Given the description of an element on the screen output the (x, y) to click on. 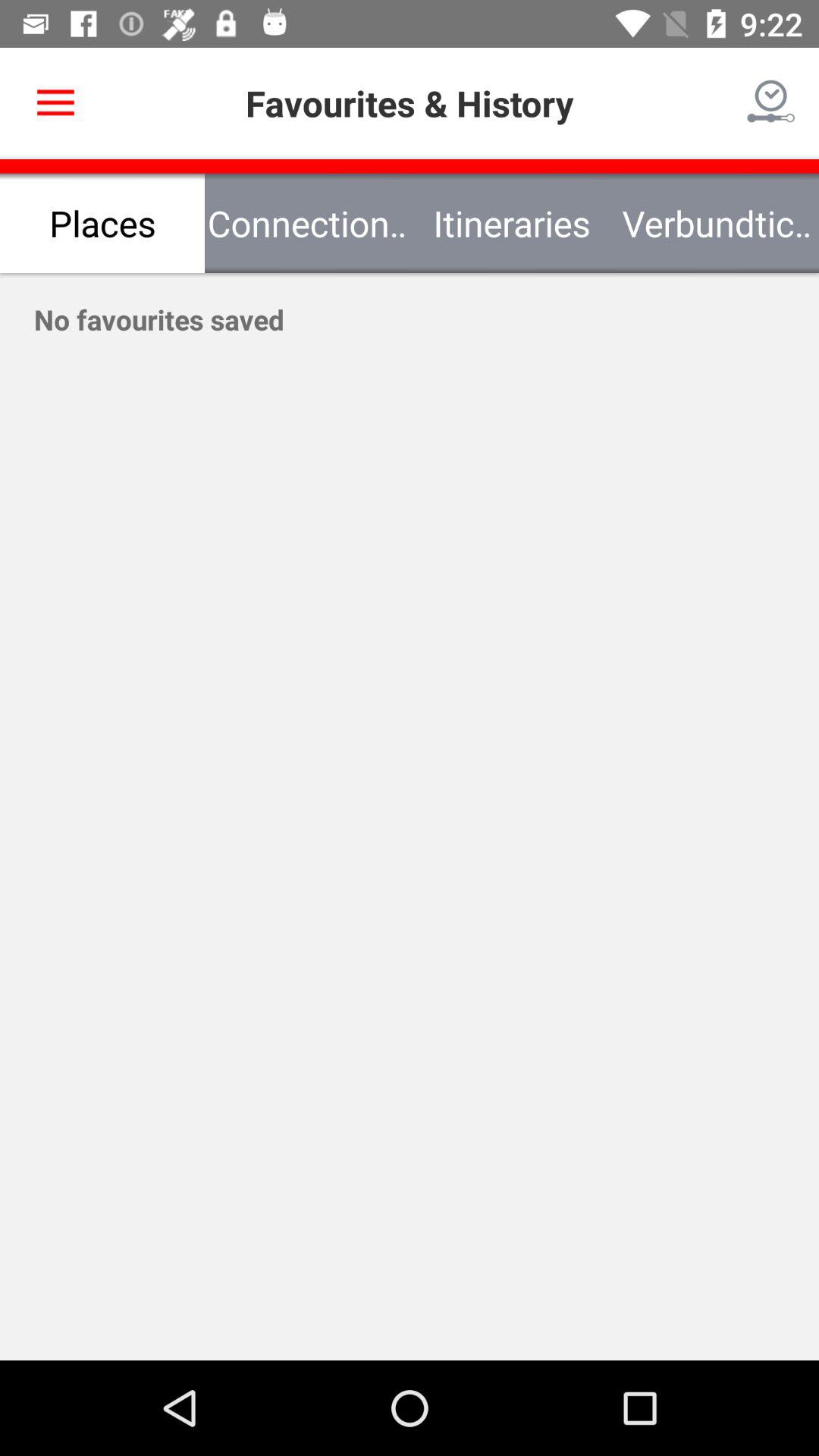
launch the itineraries icon (511, 223)
